Given the description of an element on the screen output the (x, y) to click on. 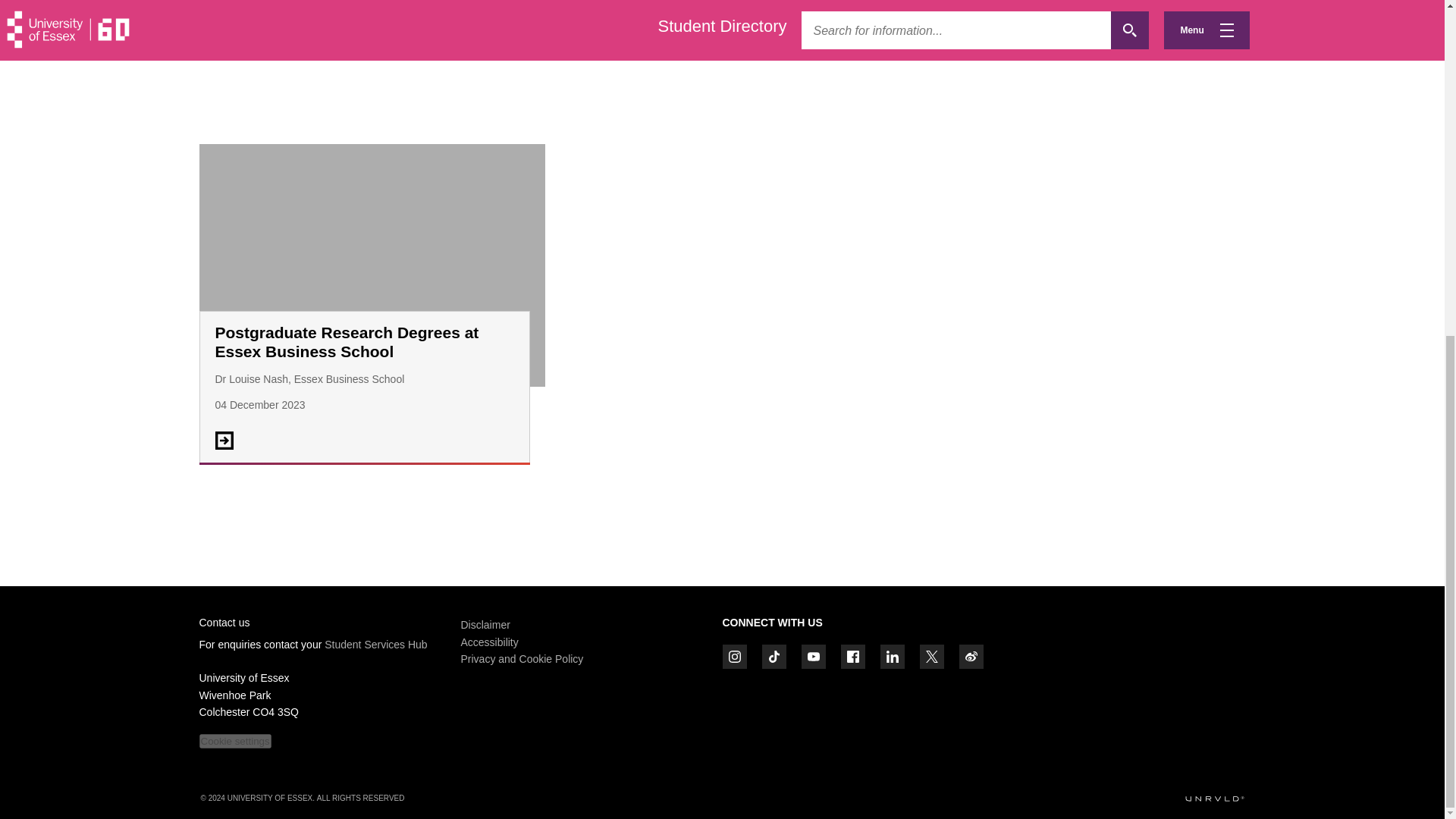
UNRVLD Digital Agency website (1214, 798)
